Given the description of an element on the screen output the (x, y) to click on. 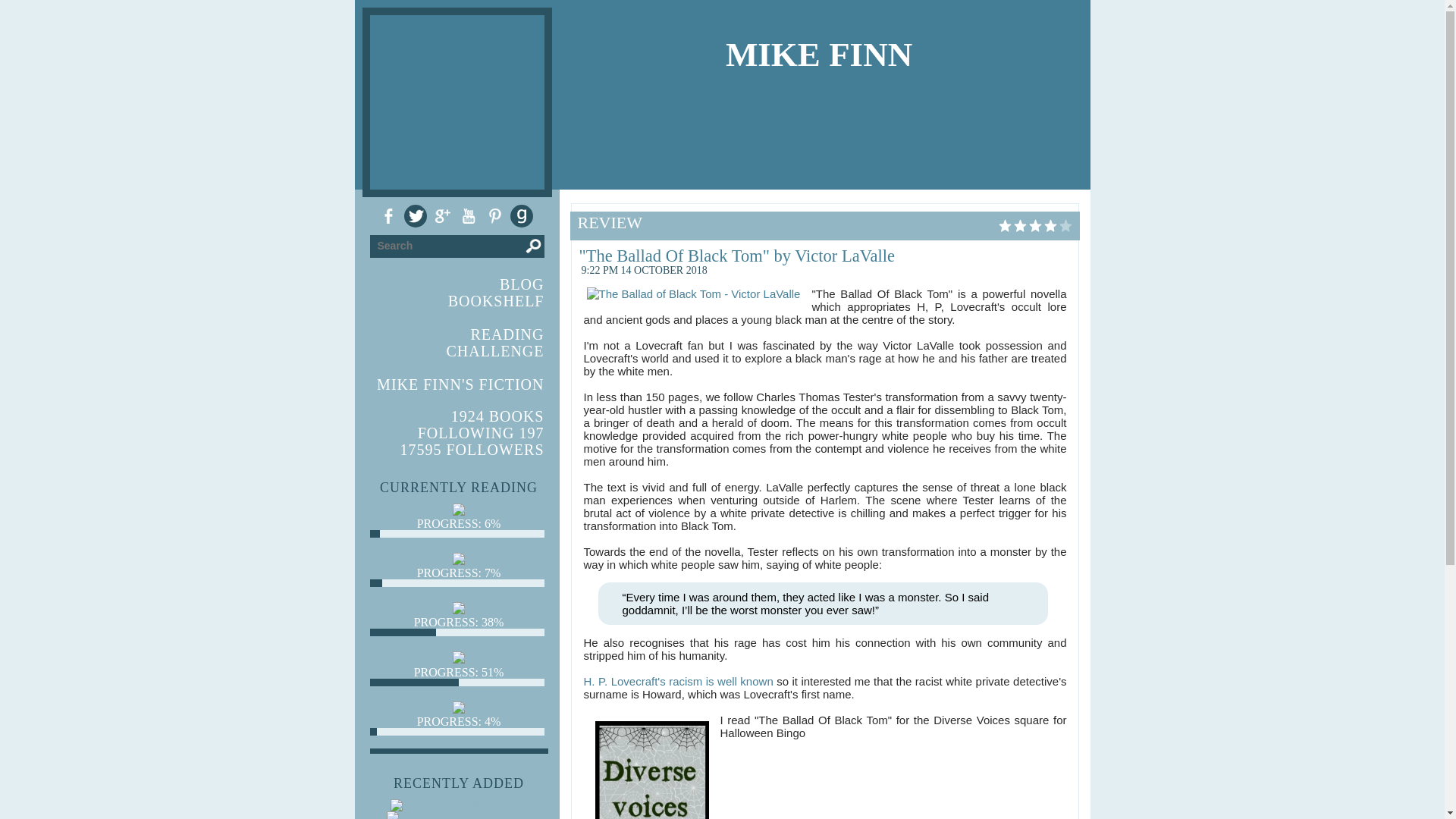
READING CHALLENGE (495, 342)
BOOKSHELF (496, 300)
twitter (414, 215)
goodreads (520, 215)
"The Ballad Of Black Tom" by Victor LaValle (737, 255)
CURRENTLY READING (458, 487)
MIKE FINN'S FICTION (460, 384)
9:22 PM 14 OCTOBER 2018 (643, 269)
FOLLOWING 197 (480, 433)
H. P. Lovecraft's racism is well known  (680, 680)
